Given the description of an element on the screen output the (x, y) to click on. 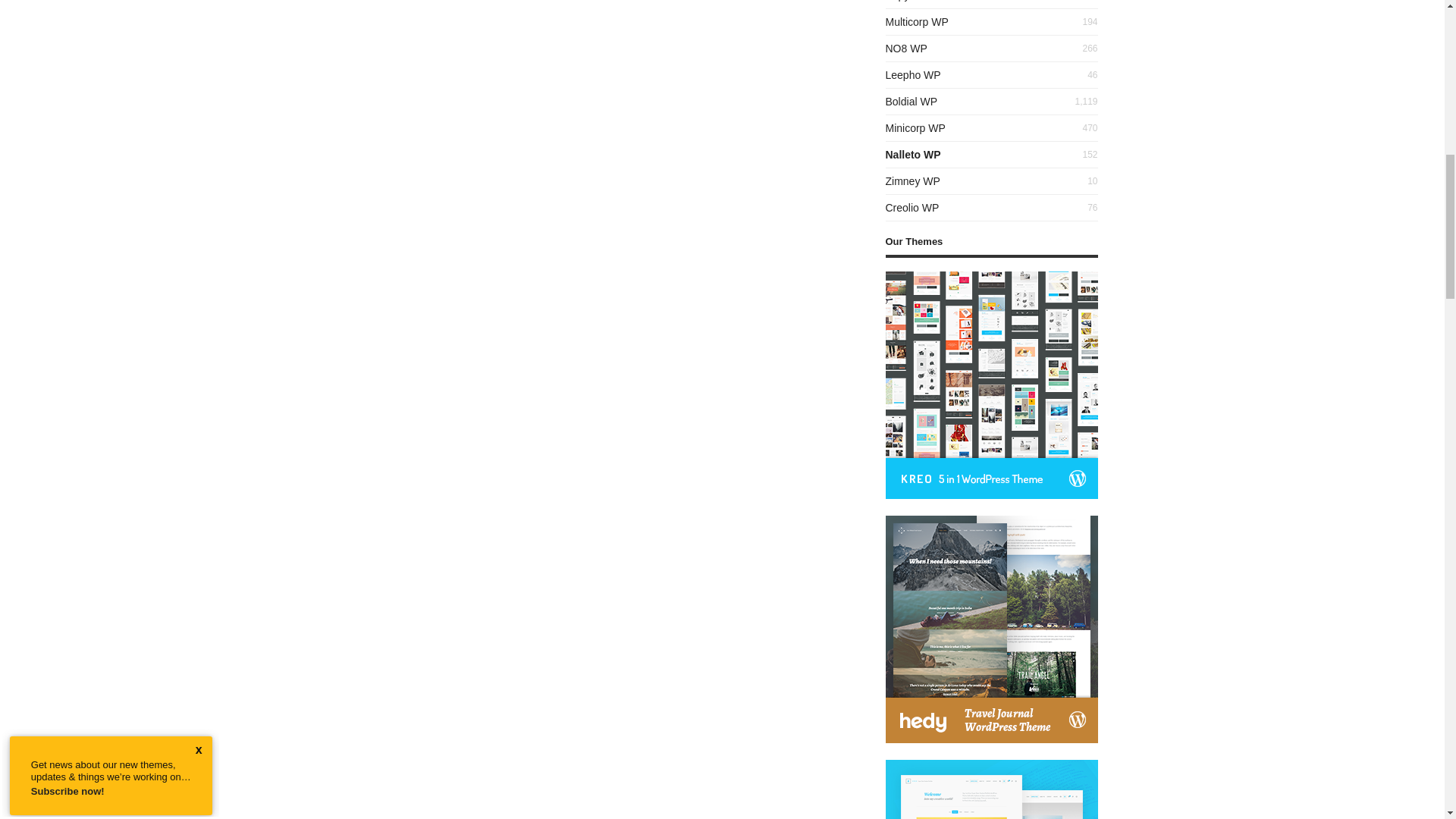
Nalleto WP (912, 154)
Zimney WP (912, 181)
NO8 WP (906, 48)
Minicorp WP (914, 128)
Kopy WP (907, 0)
Leepho WP (912, 74)
Multicorp WP (917, 21)
Boldial WP (911, 101)
Creolio WP (912, 207)
